Given the description of an element on the screen output the (x, y) to click on. 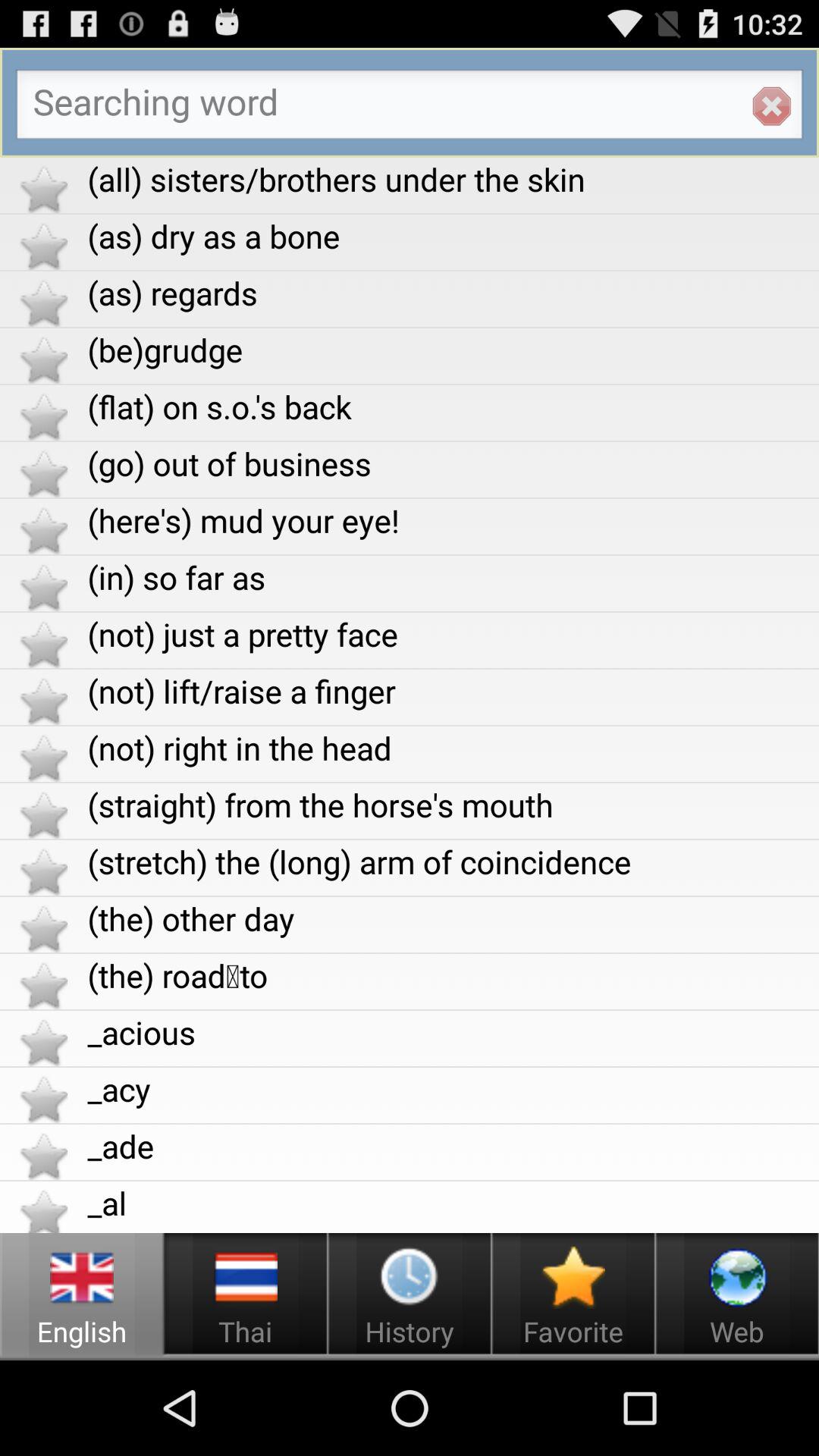
launch the app above the all sisters brothers item (771, 106)
